Given the description of an element on the screen output the (x, y) to click on. 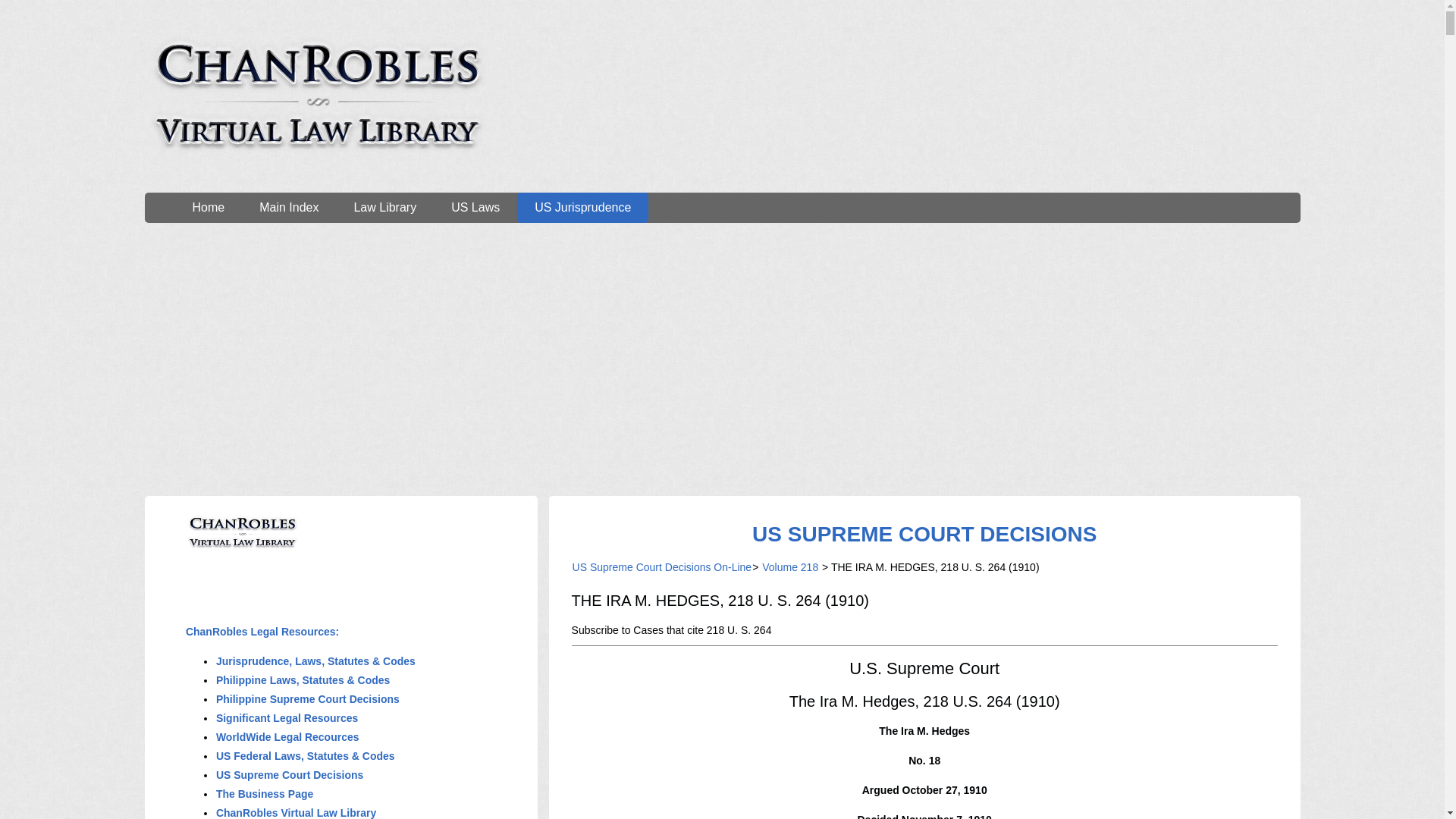
US Laws (474, 207)
ChanRobles Virtual Law Library (296, 812)
ChanRobles Legal Resources: (261, 631)
Philippine Supreme Court Decisions (307, 698)
US SUPREME COURT DECISIONS (924, 534)
US Supreme Court Decisions (290, 775)
Law Library (384, 207)
Main Index (288, 207)
US Supreme Court Decisions On-Line (662, 567)
Volume 218 (789, 567)
Significant Legal Resources (287, 717)
United States Supreme Court Decisions - On-Line (924, 534)
Home (207, 207)
The Business Page (264, 793)
WorldWide Legal Recources (287, 736)
